Given the description of an element on the screen output the (x, y) to click on. 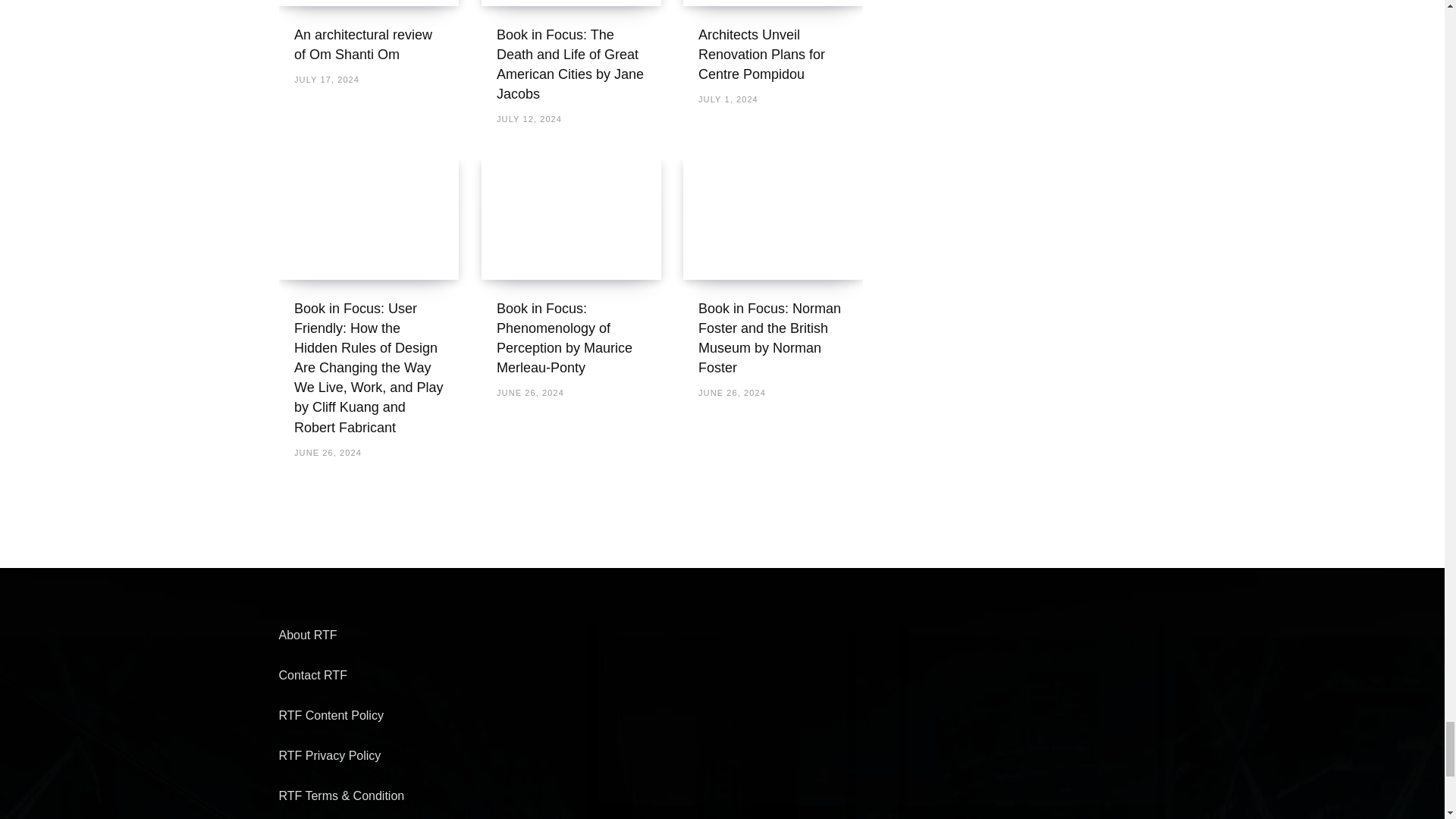
An architectural review of Om Shanti Om (368, 2)
